Given the description of an element on the screen output the (x, y) to click on. 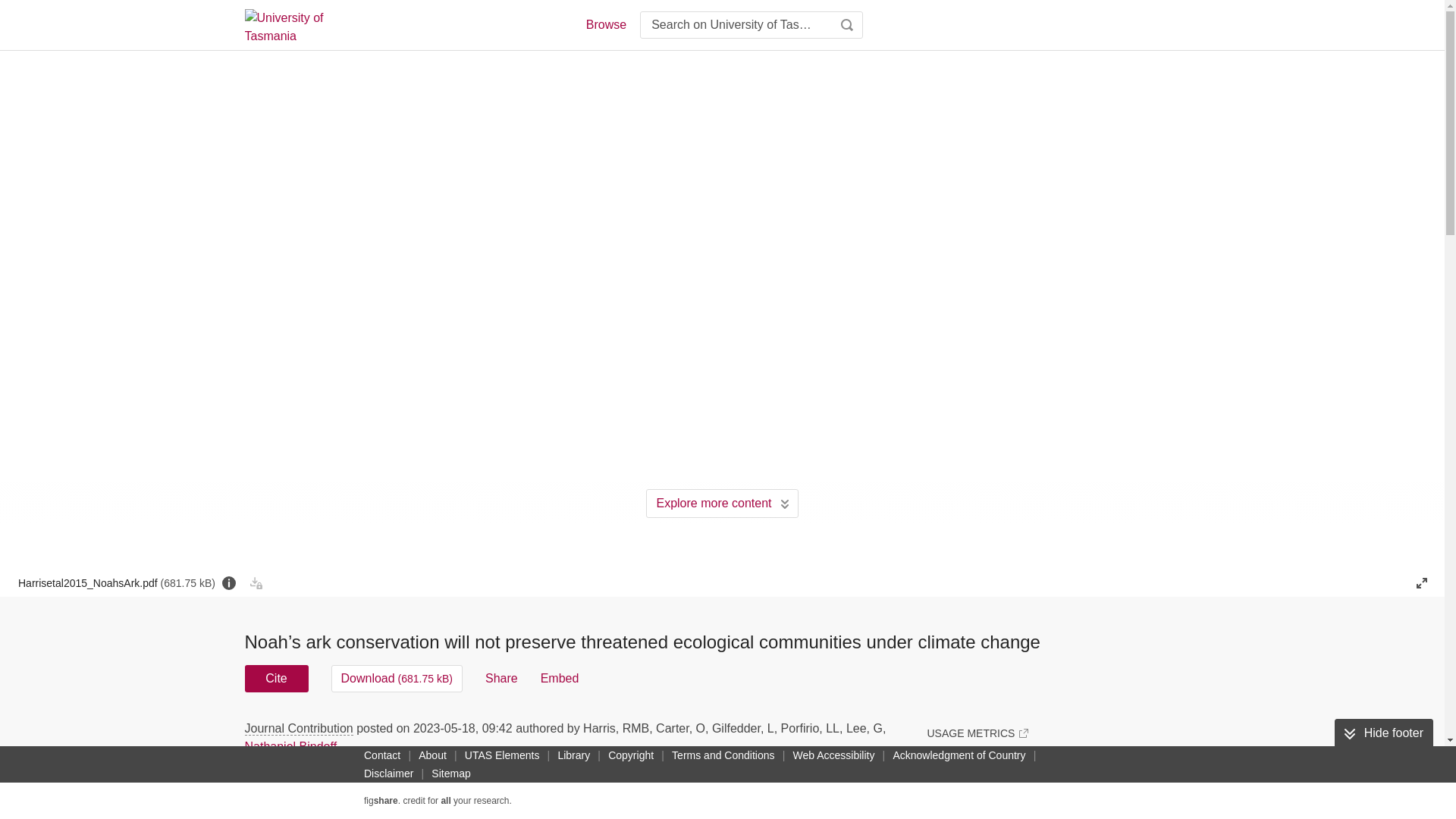
Hide footer (1383, 733)
Web Accessibility (834, 755)
Terms and Conditions (722, 755)
Library (573, 755)
Acknowledgment of Country (958, 755)
Browse (605, 24)
Explore more content (721, 502)
USAGE METRICS (976, 732)
Cite (275, 678)
Contact (381, 755)
Nathaniel Bindoff (290, 746)
UTAS Elements (502, 755)
Share (501, 678)
Disclaimer (388, 773)
